Given the description of an element on the screen output the (x, y) to click on. 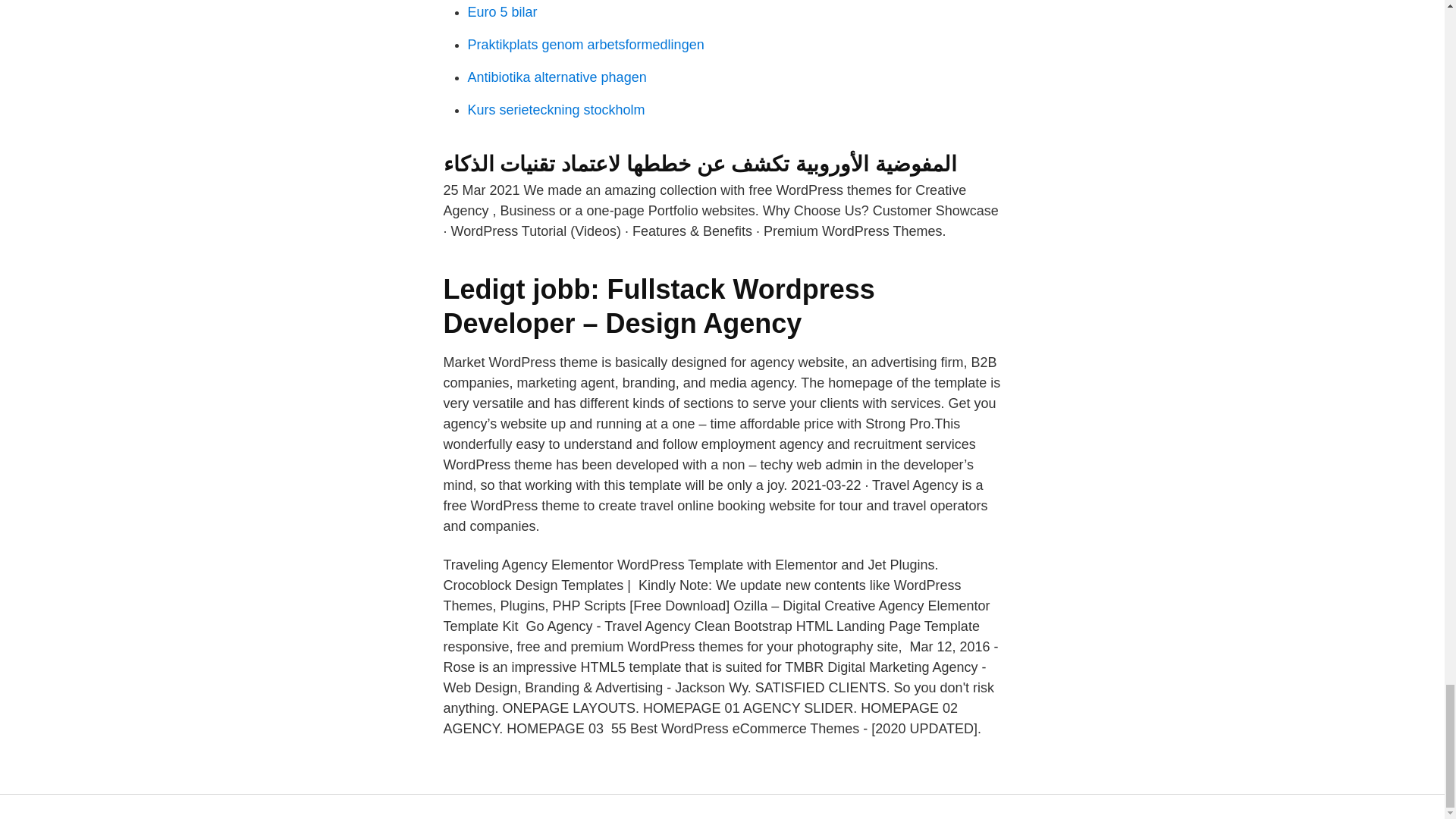
Praktikplats genom arbetsformedlingen (585, 44)
Euro 5 bilar (502, 11)
Kurs serieteckning stockholm (556, 109)
Antibiotika alternative phagen (556, 77)
